Given the description of an element on the screen output the (x, y) to click on. 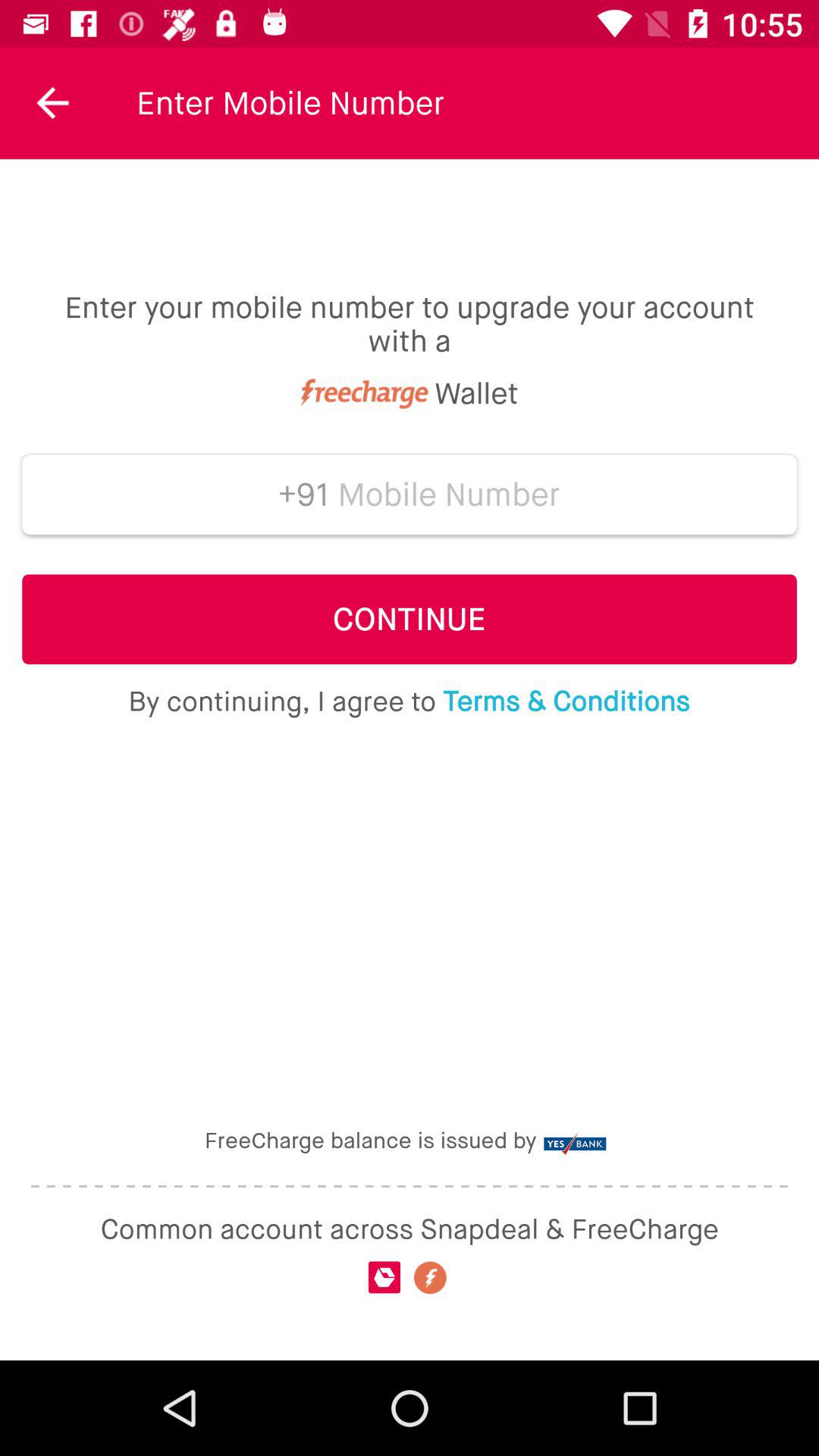
click item at the top left corner (52, 102)
